Given the description of an element on the screen output the (x, y) to click on. 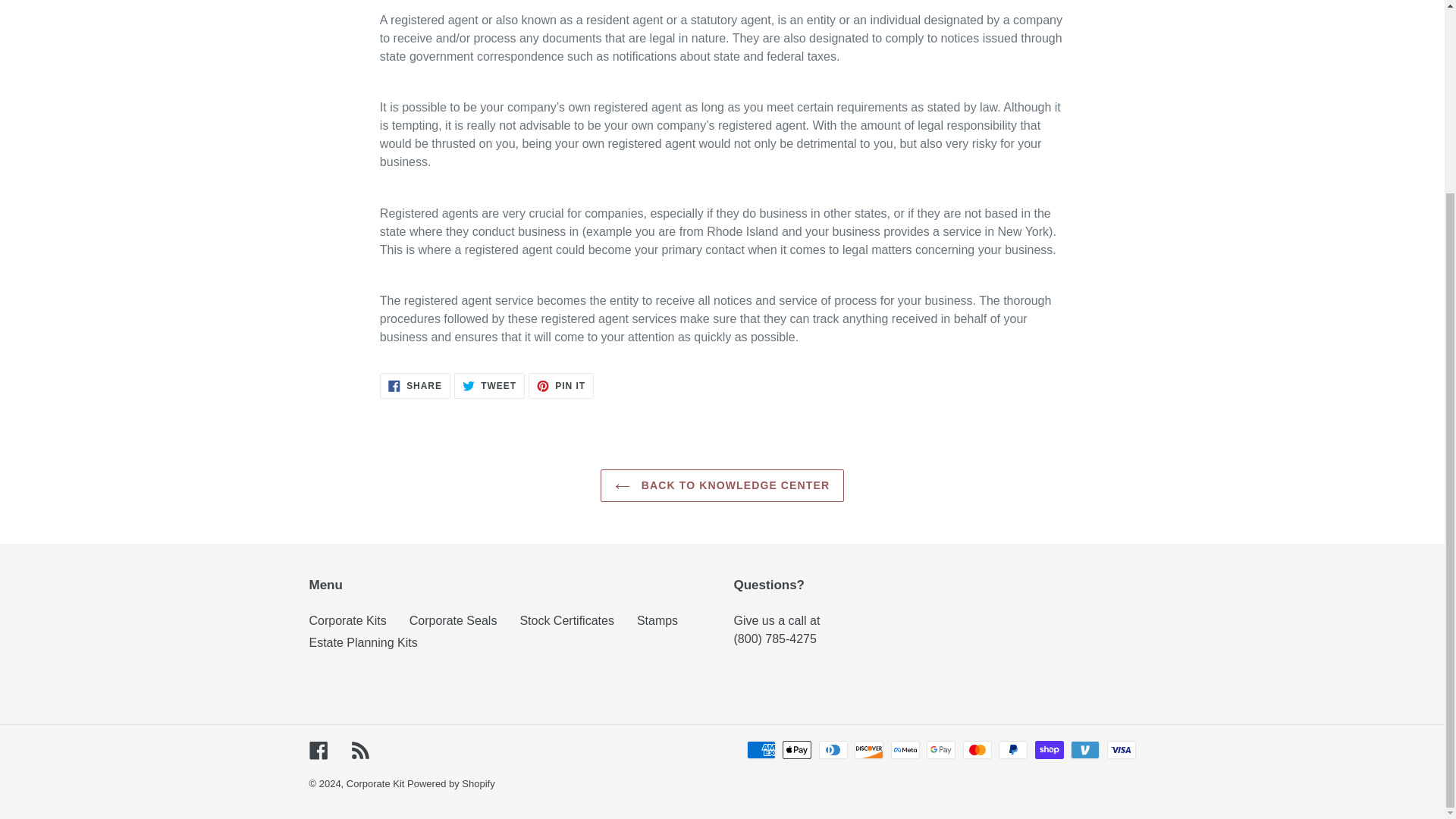
Stamps (489, 385)
tel:8007854275 (657, 620)
Corporate Seals (774, 638)
Corporate Kit (453, 620)
Estate Planning Kits (376, 783)
Powered by Shopify (362, 642)
Corporate Kits (414, 385)
Facebook (451, 783)
Stock Certificates (347, 620)
RSS (318, 749)
BACK TO KNOWLEDGE CENTER (565, 620)
